Given the description of an element on the screen output the (x, y) to click on. 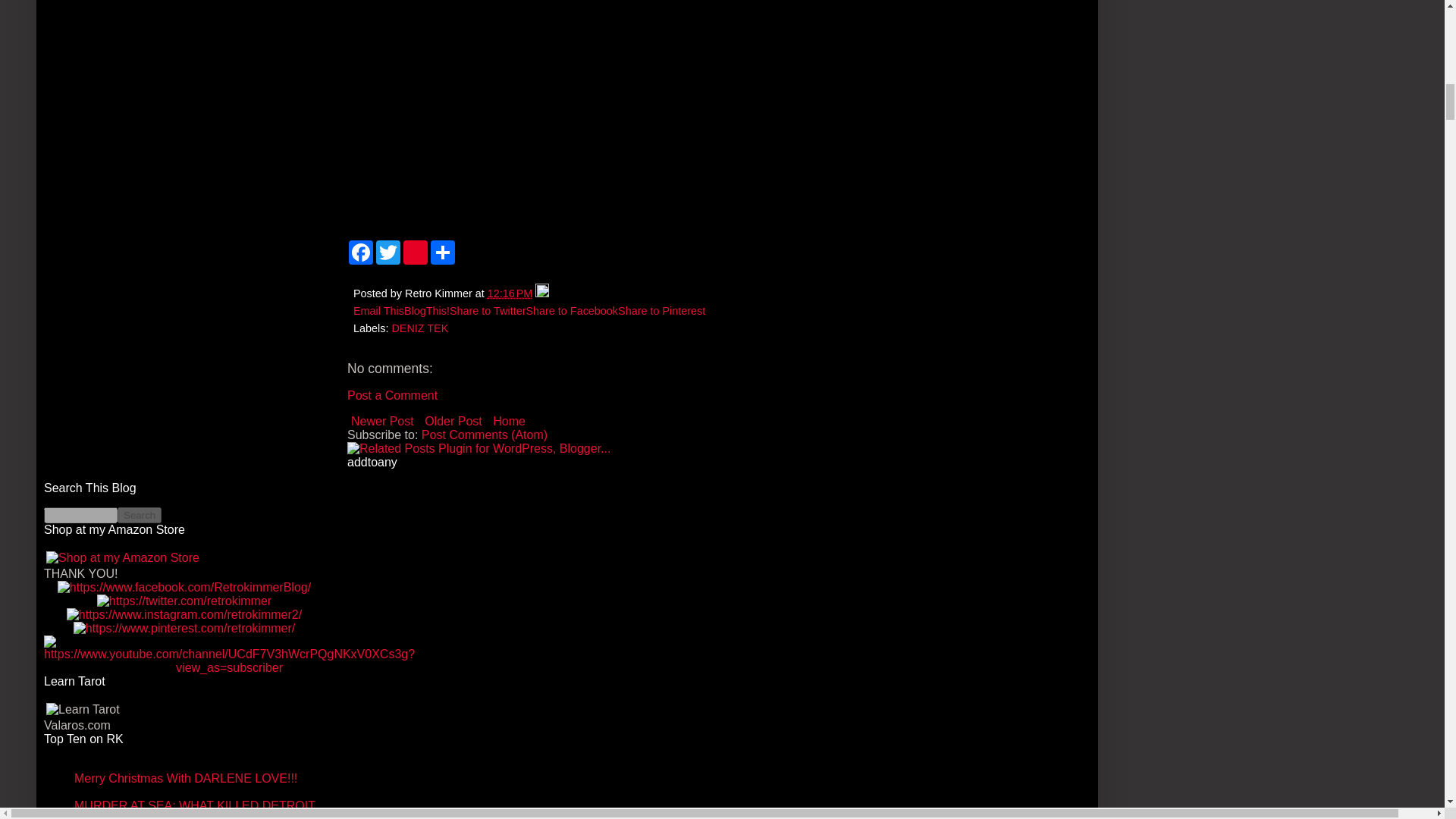
search (80, 514)
Share to Facebook (571, 310)
Share to Pinterest (660, 310)
Home (509, 421)
Pinterest (415, 252)
BlogThis! (426, 310)
Share to Facebook (571, 310)
DENIZ TEK (419, 328)
Share to Twitter (487, 310)
Post a Comment (392, 395)
Newer Post (382, 421)
Email This (378, 310)
BlogThis! (426, 310)
search (139, 514)
Share to Twitter (487, 310)
